Given the description of an element on the screen output the (x, y) to click on. 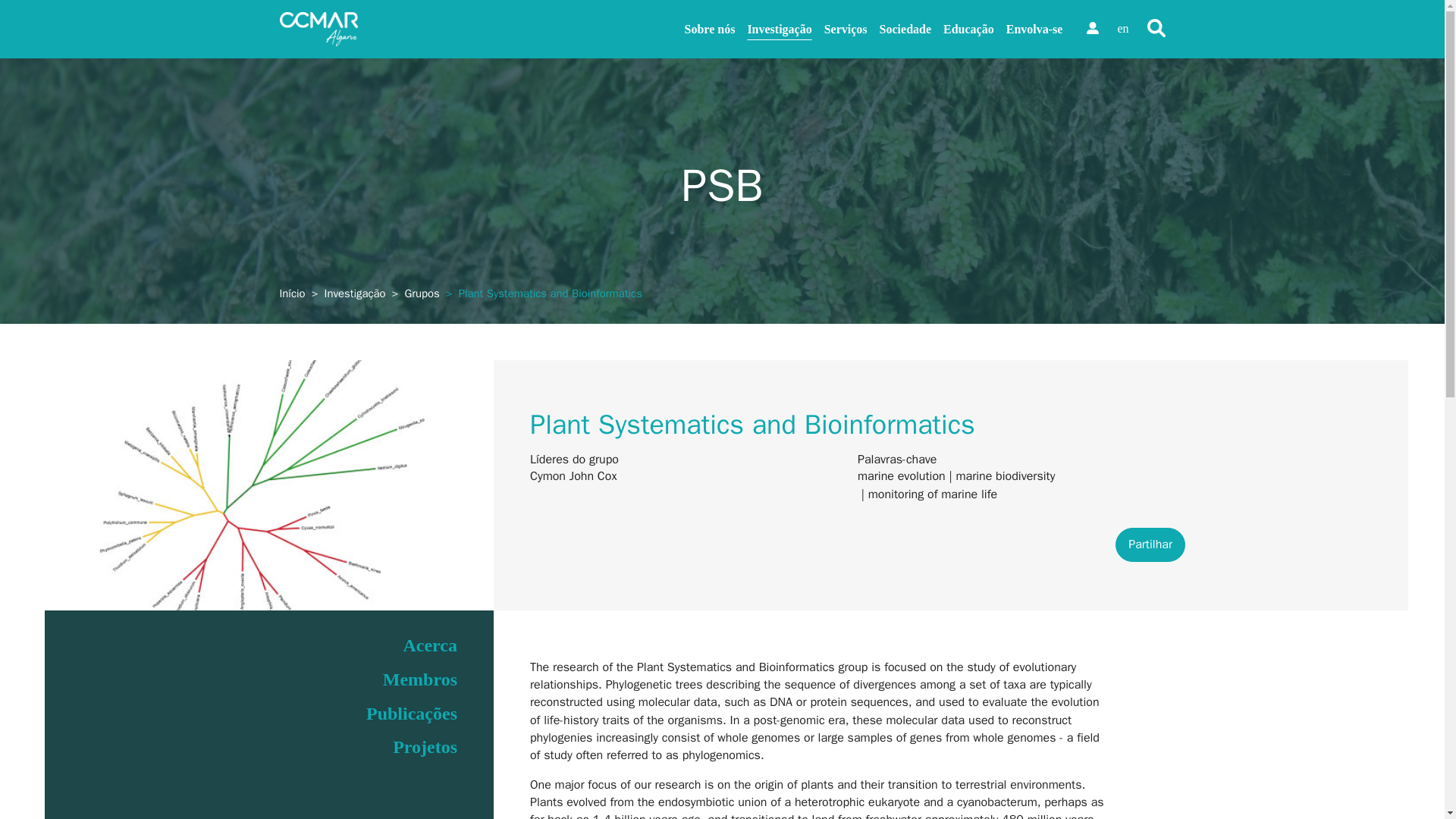
Plant Systematics and Bioinformatics  (269, 485)
User (1092, 28)
